Given the description of an element on the screen output the (x, y) to click on. 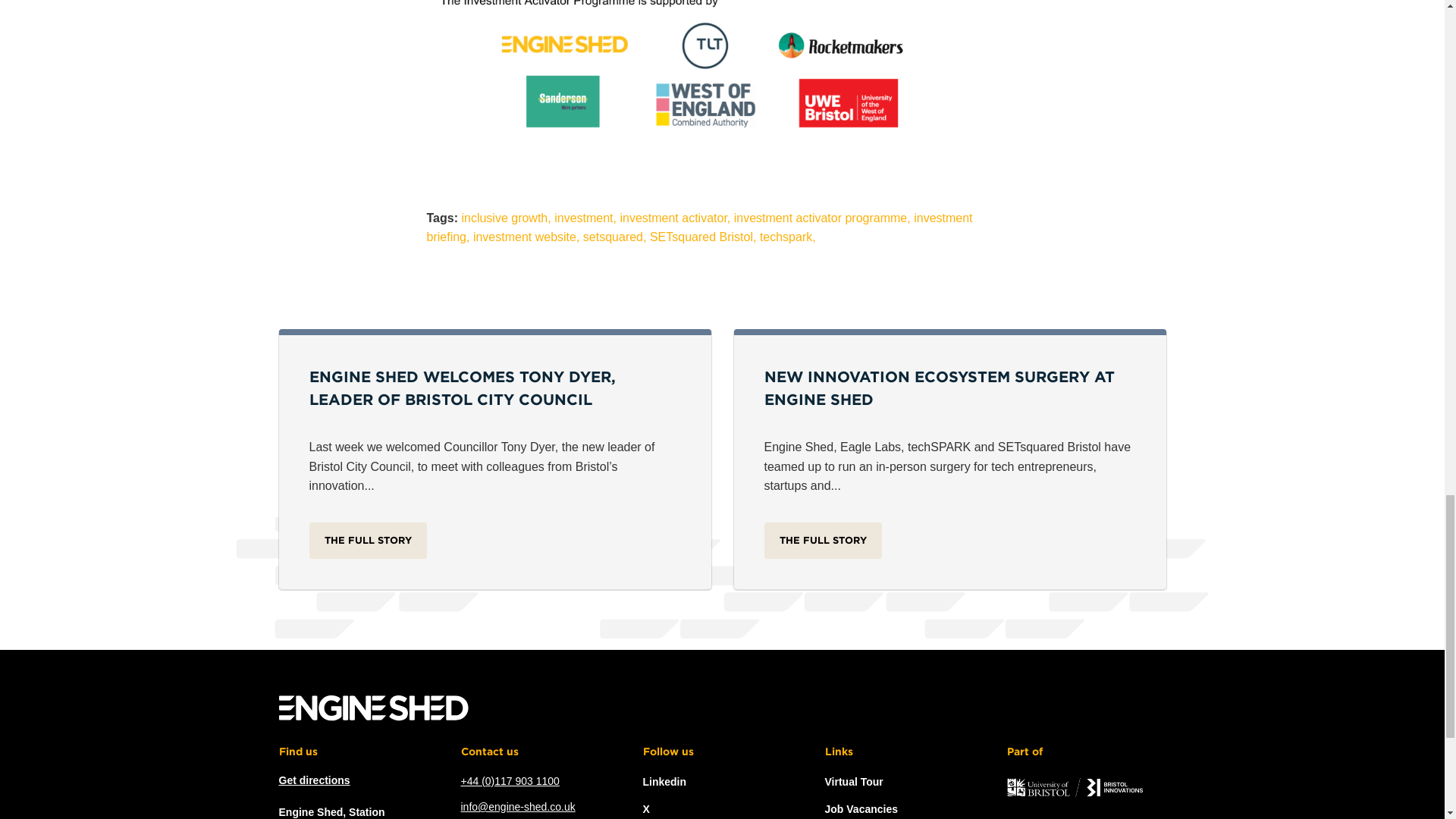
inclusive growth, (505, 217)
investment activator, (675, 217)
investment activator programme, (822, 217)
investment, (584, 217)
